Given the description of an element on the screen output the (x, y) to click on. 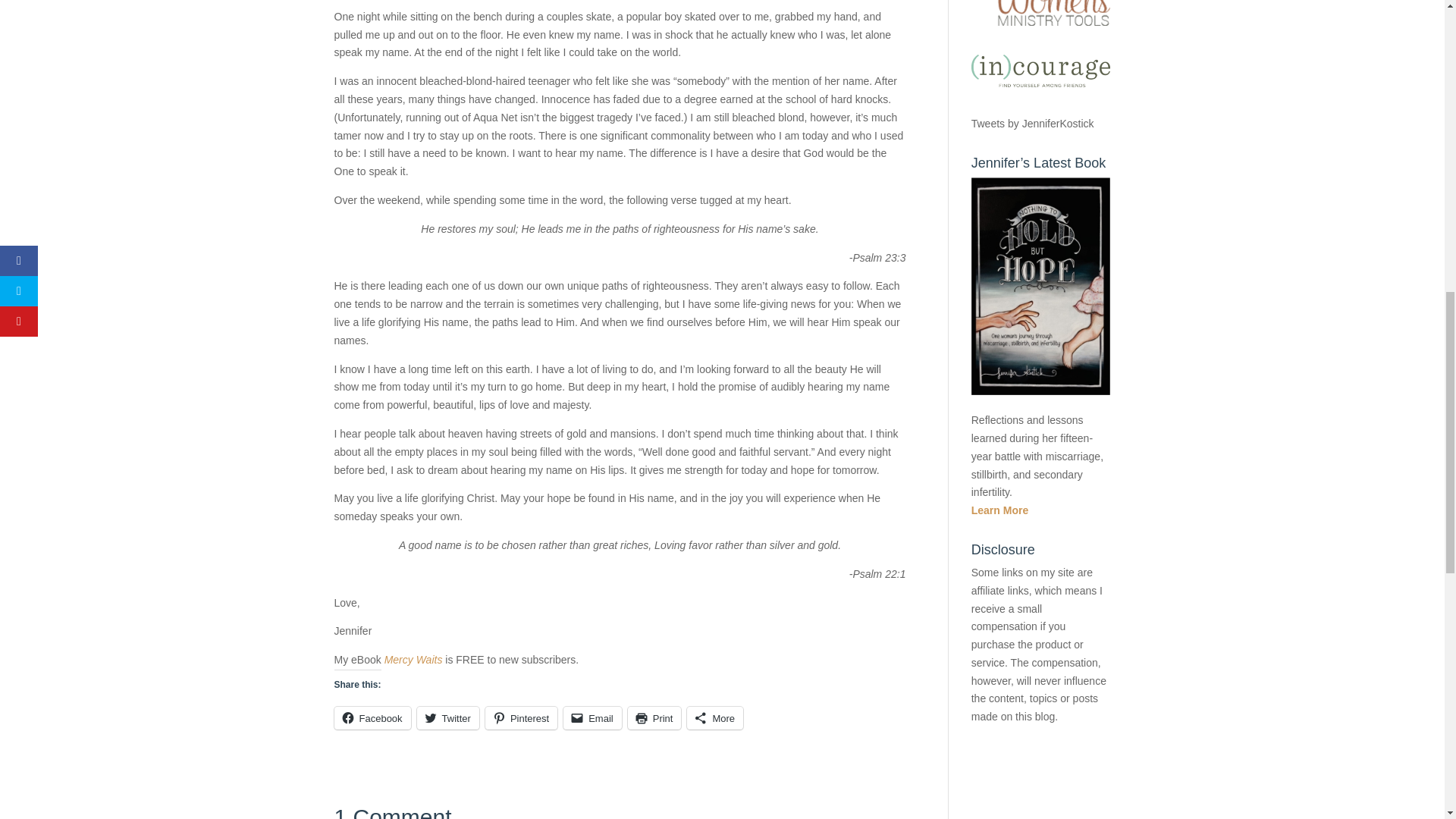
Click to share on Twitter (447, 717)
Pinterest (520, 717)
Tweets by JenniferKostick (1032, 123)
Click to print (654, 717)
Email (592, 717)
Print (654, 717)
Mercy Waits (413, 659)
More (714, 717)
Click to share on Facebook (371, 717)
Facebook (371, 717)
